Given the description of an element on the screen output the (x, y) to click on. 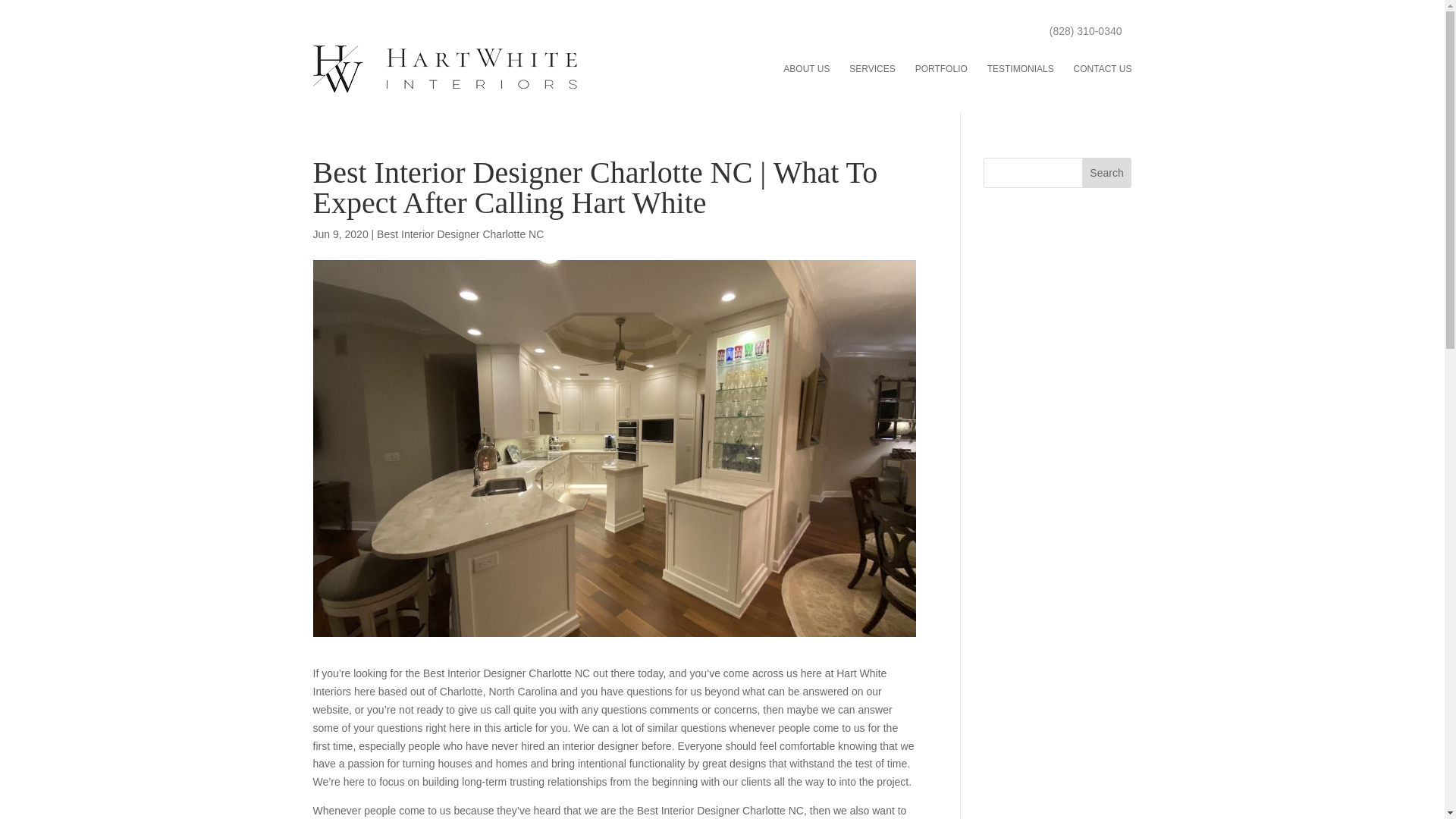
ABOUT US (806, 68)
PORTFOLIO (941, 68)
Search (1106, 173)
Best Interior Designer Charlotte NC (460, 234)
Search (1106, 173)
SERVICES (871, 68)
TESTIMONIALS (1020, 68)
CONTACT US (1103, 68)
